Given the description of an element on the screen output the (x, y) to click on. 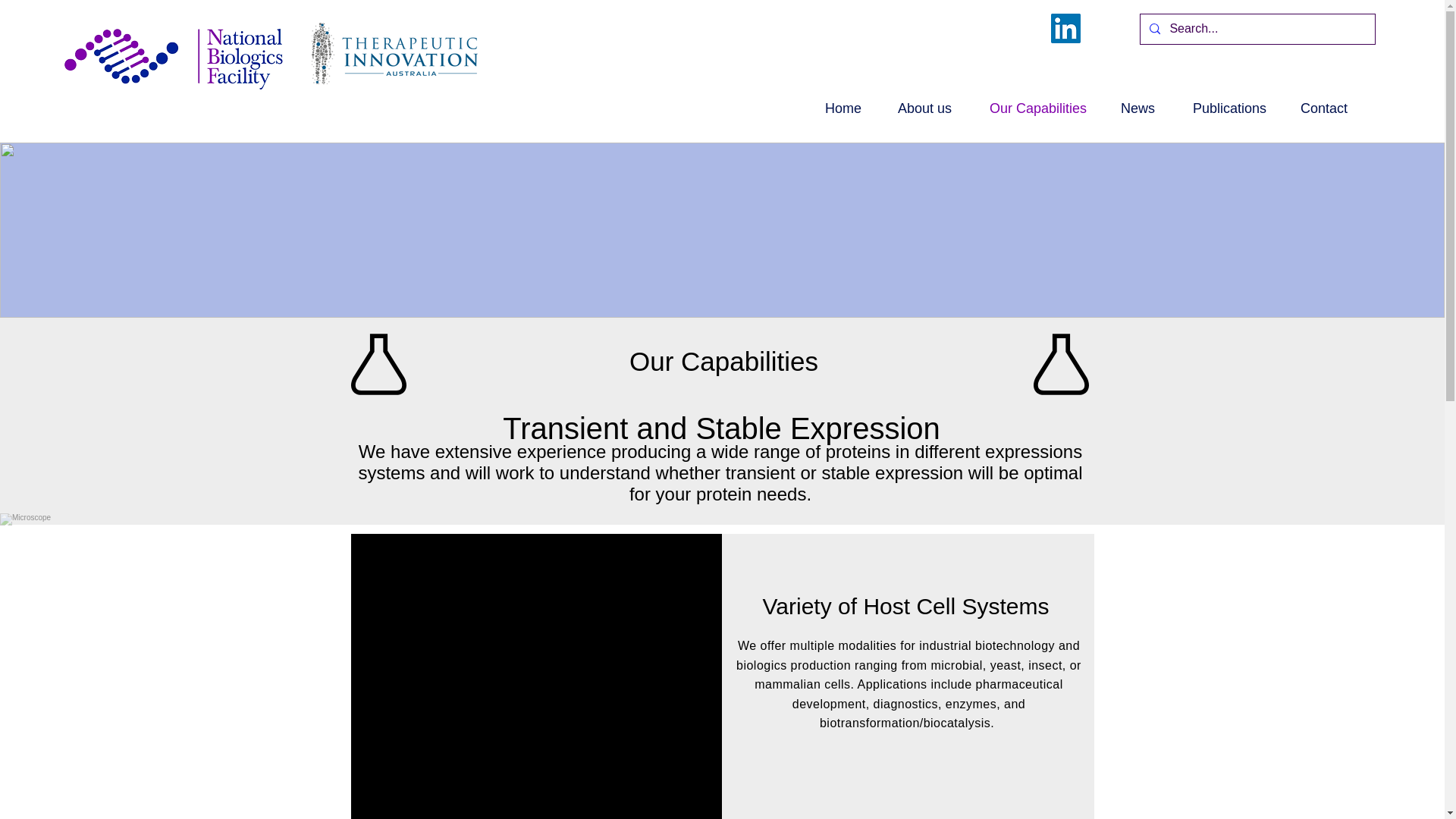
About us (917, 108)
News (1131, 108)
Our Capabilities (1029, 108)
Home (836, 108)
Contact (1318, 108)
Publications (1222, 108)
